Given the description of an element on the screen output the (x, y) to click on. 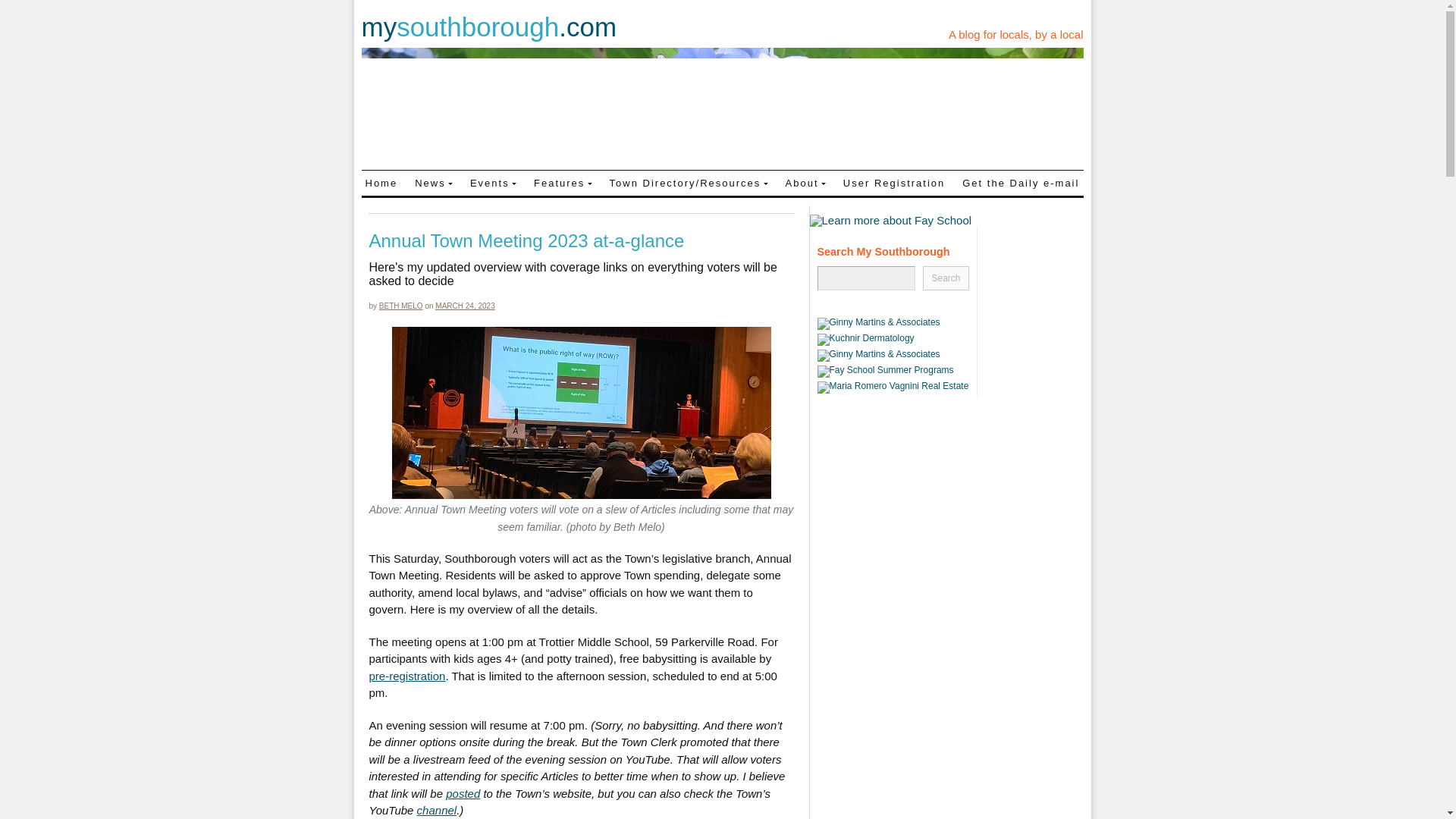
Events (492, 182)
mysouthborough.com (488, 26)
Events (492, 182)
Home (381, 182)
Home (381, 182)
Features (562, 182)
News (433, 182)
News (433, 182)
A blog for locals, by a local (1016, 33)
